Given the description of an element on the screen output the (x, y) to click on. 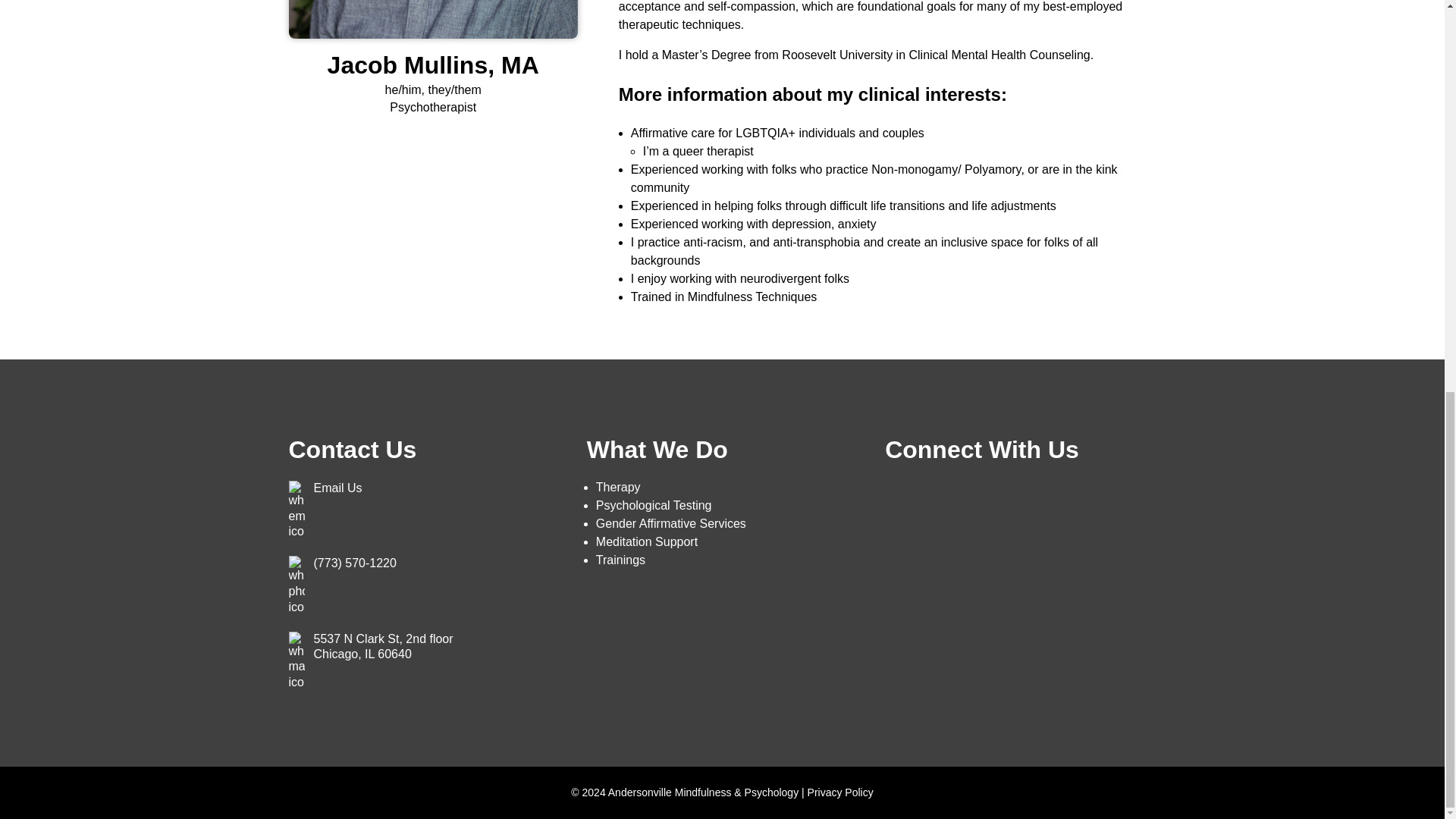
Email Us (338, 487)
Meditation Support (646, 541)
Gender Affirmative Services (383, 646)
Trainings (670, 522)
Psychological Testing (620, 559)
Therapy (653, 504)
Privacy Policy (617, 486)
